Given the description of an element on the screen output the (x, y) to click on. 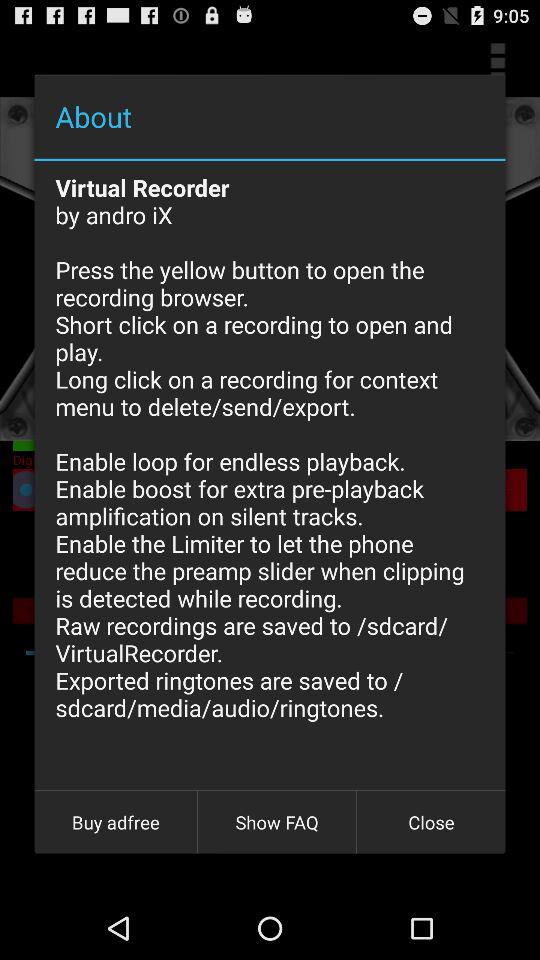
press the icon to the left of the close item (277, 821)
